Given the description of an element on the screen output the (x, y) to click on. 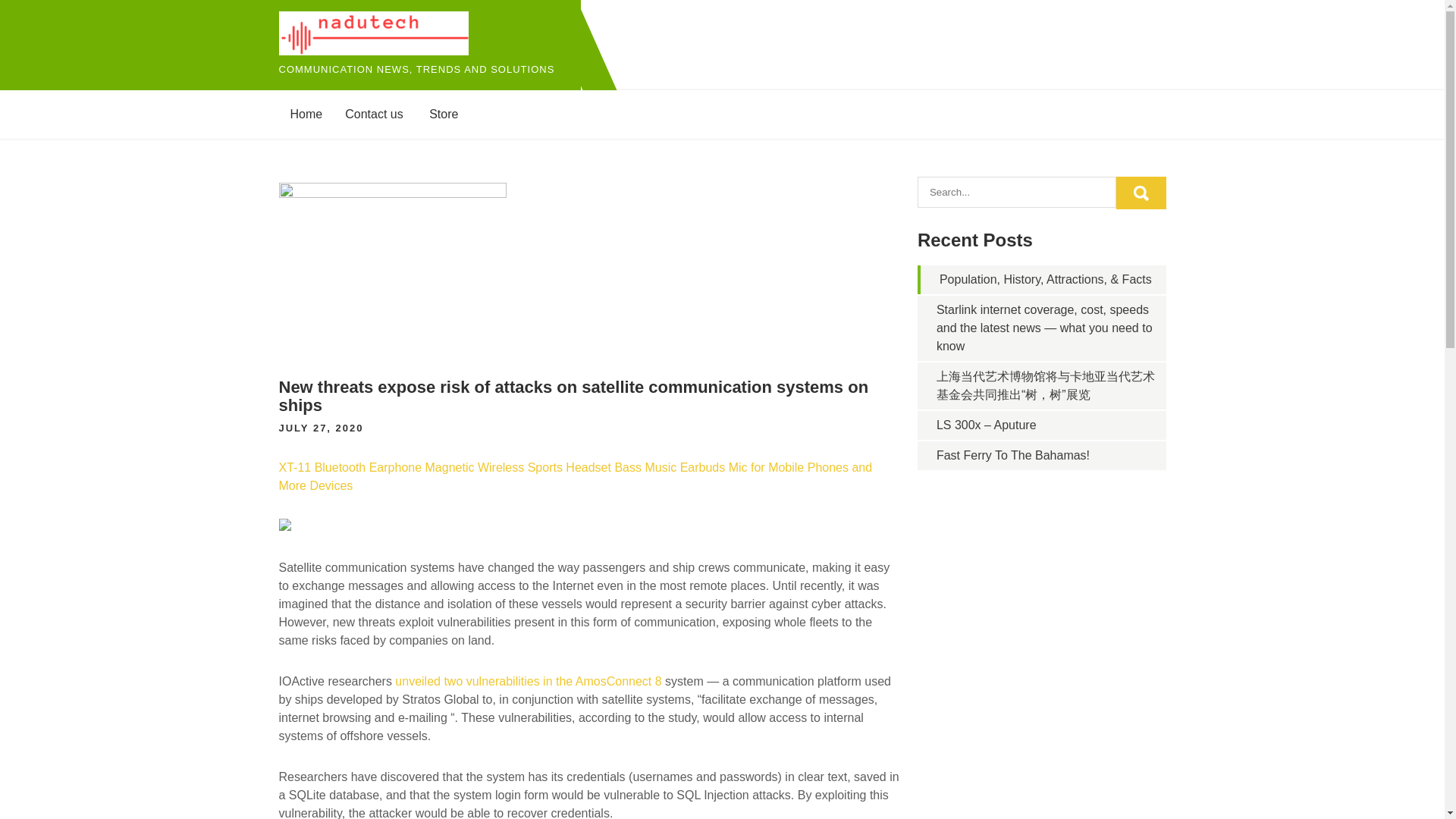
Contact us (373, 114)
unveiled two vulnerabilities in the AmosConnect 8 (527, 680)
Home (306, 114)
Search (1141, 192)
Fast Ferry To The Bahamas! (1012, 454)
Search (1141, 192)
Store (442, 114)
Search (1141, 192)
